Given the description of an element on the screen output the (x, y) to click on. 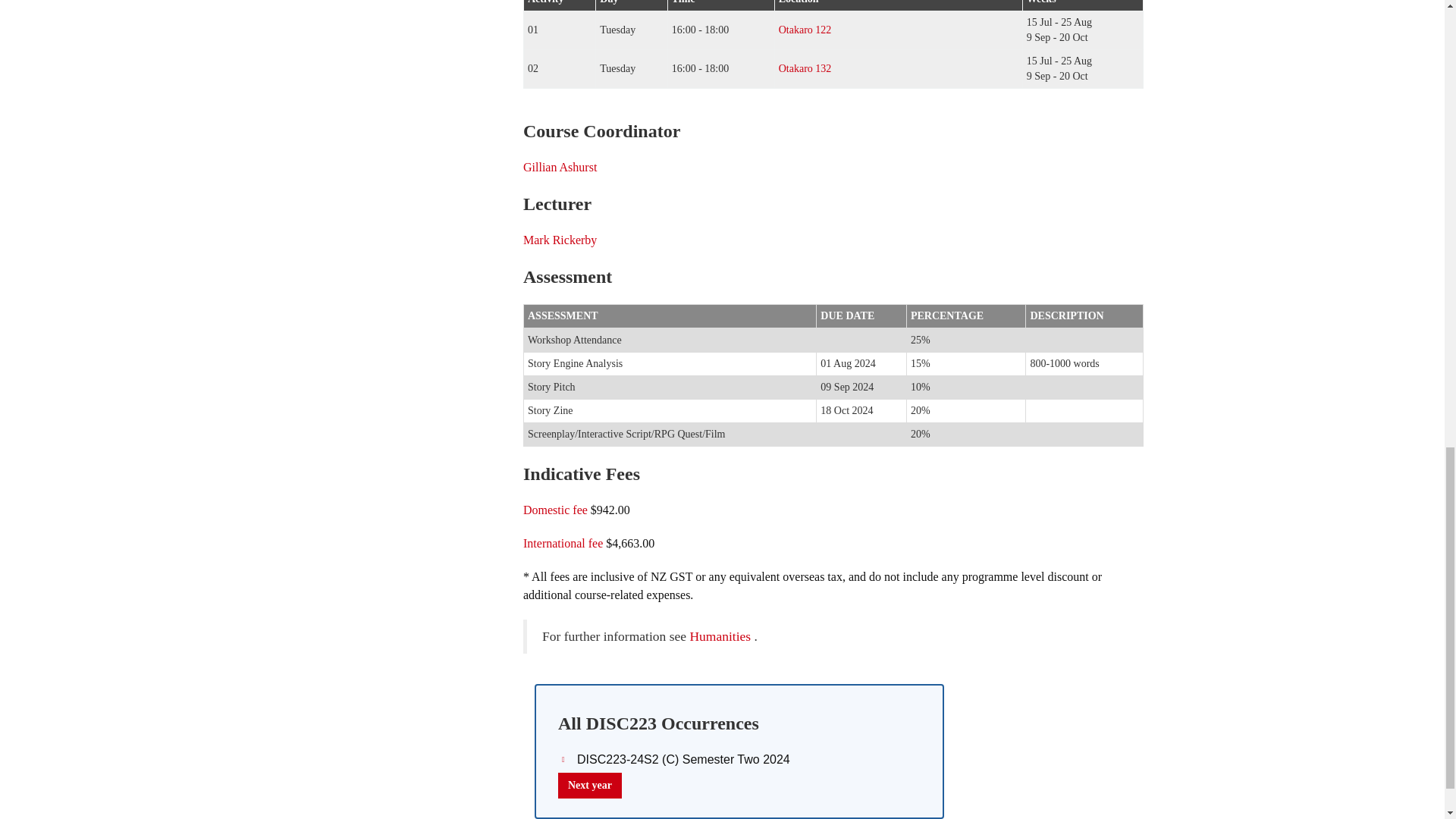
Otakaro 122 (804, 30)
Gillian Ashurst (559, 166)
International fee (562, 543)
Domestic fee (555, 509)
Otakaro 132 (804, 68)
Mark Rickerby (559, 239)
Next year (589, 785)
Humanities (719, 635)
